Given the description of an element on the screen output the (x, y) to click on. 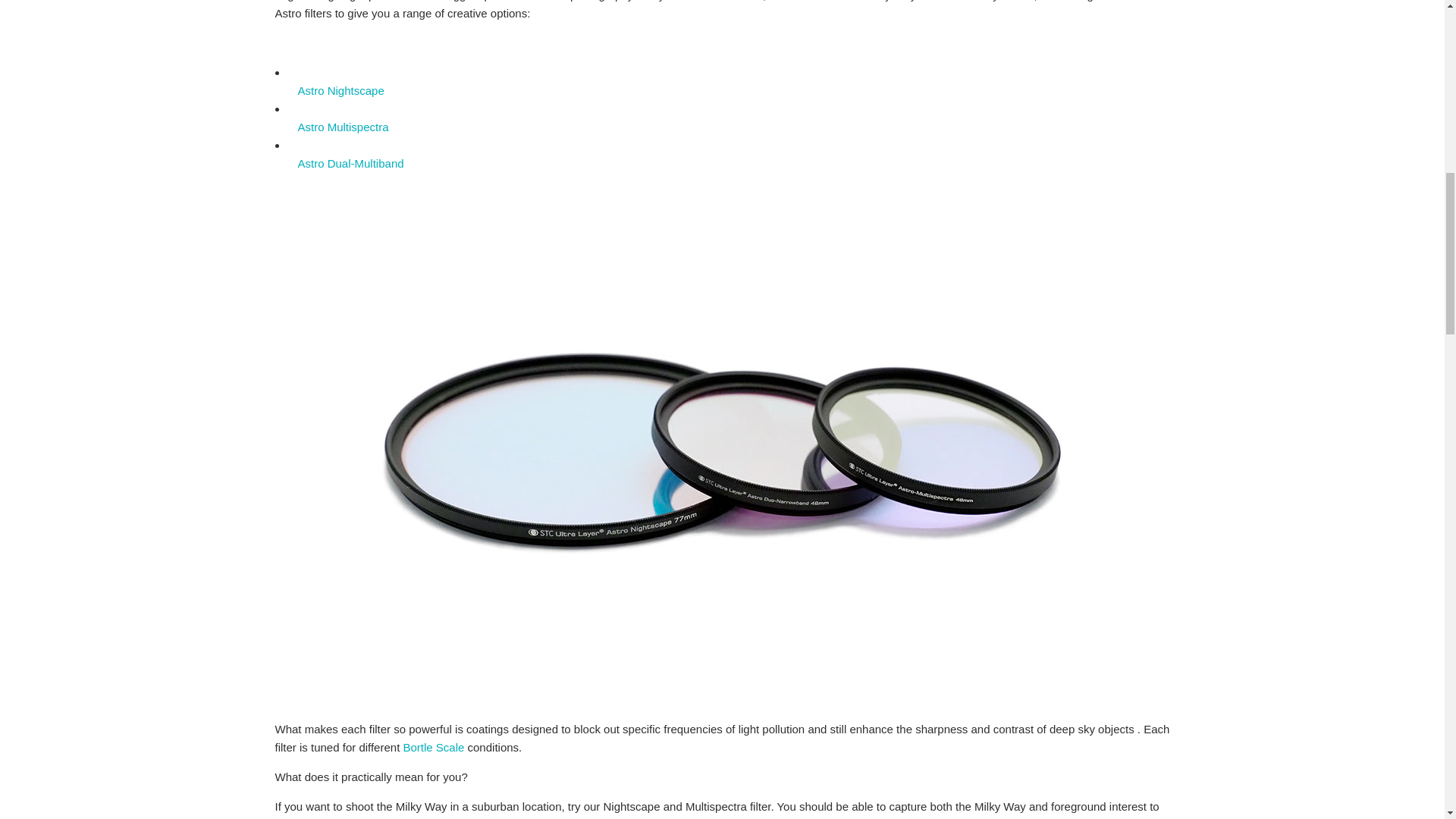
Astro Duo-Narroband STC (350, 163)
Astro NS STC (340, 90)
Astro MS STC (342, 126)
